Given the description of an element on the screen output the (x, y) to click on. 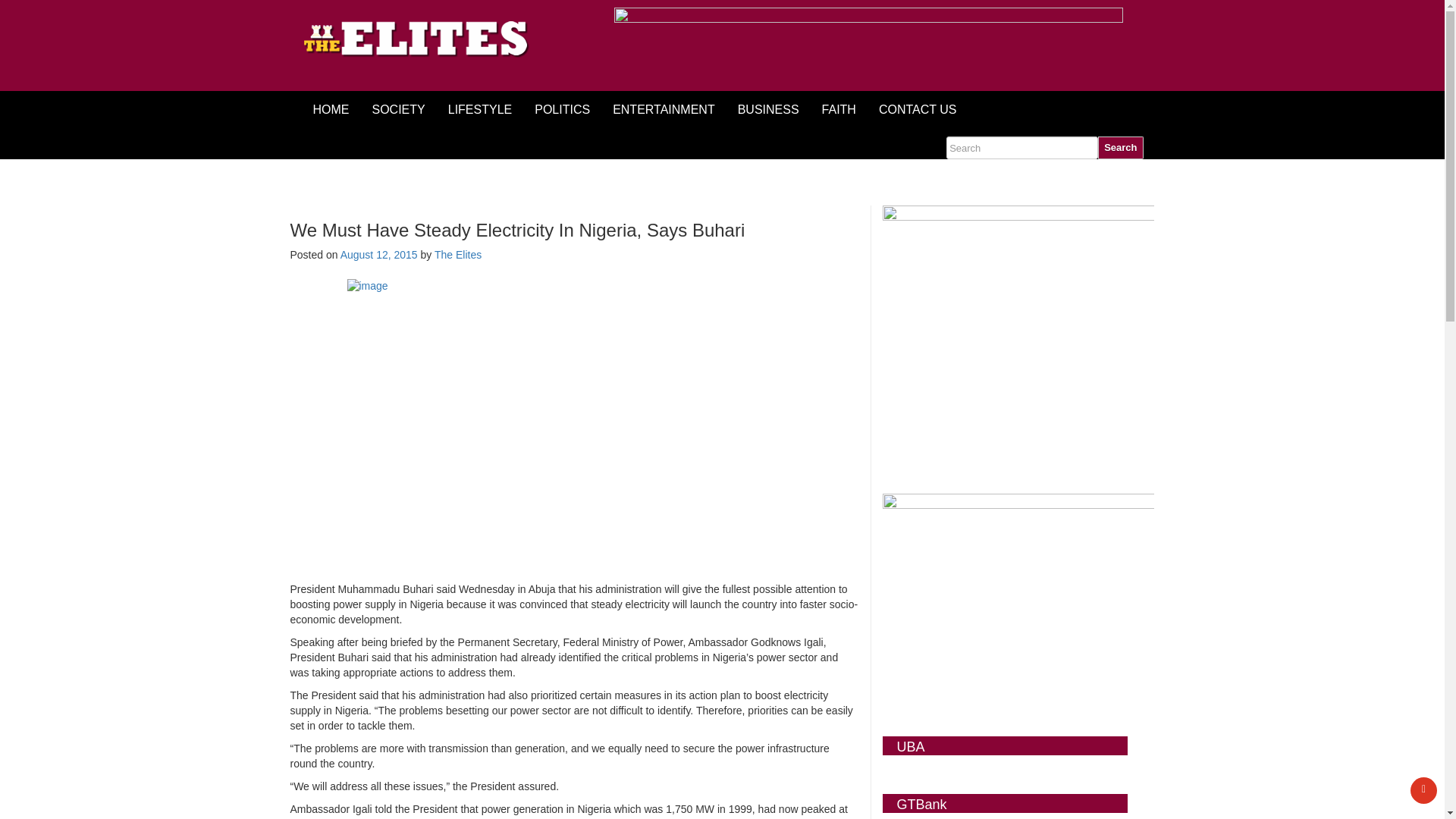
SOCIETY (398, 109)
POLITICS (561, 109)
HOME (331, 109)
CONTACT US (917, 109)
FAITH (838, 109)
Search (1119, 147)
LIFESTYLE (479, 109)
The Elites (457, 254)
BUSINESS (768, 109)
ENTERTAINMENT (663, 109)
